Given the description of an element on the screen output the (x, y) to click on. 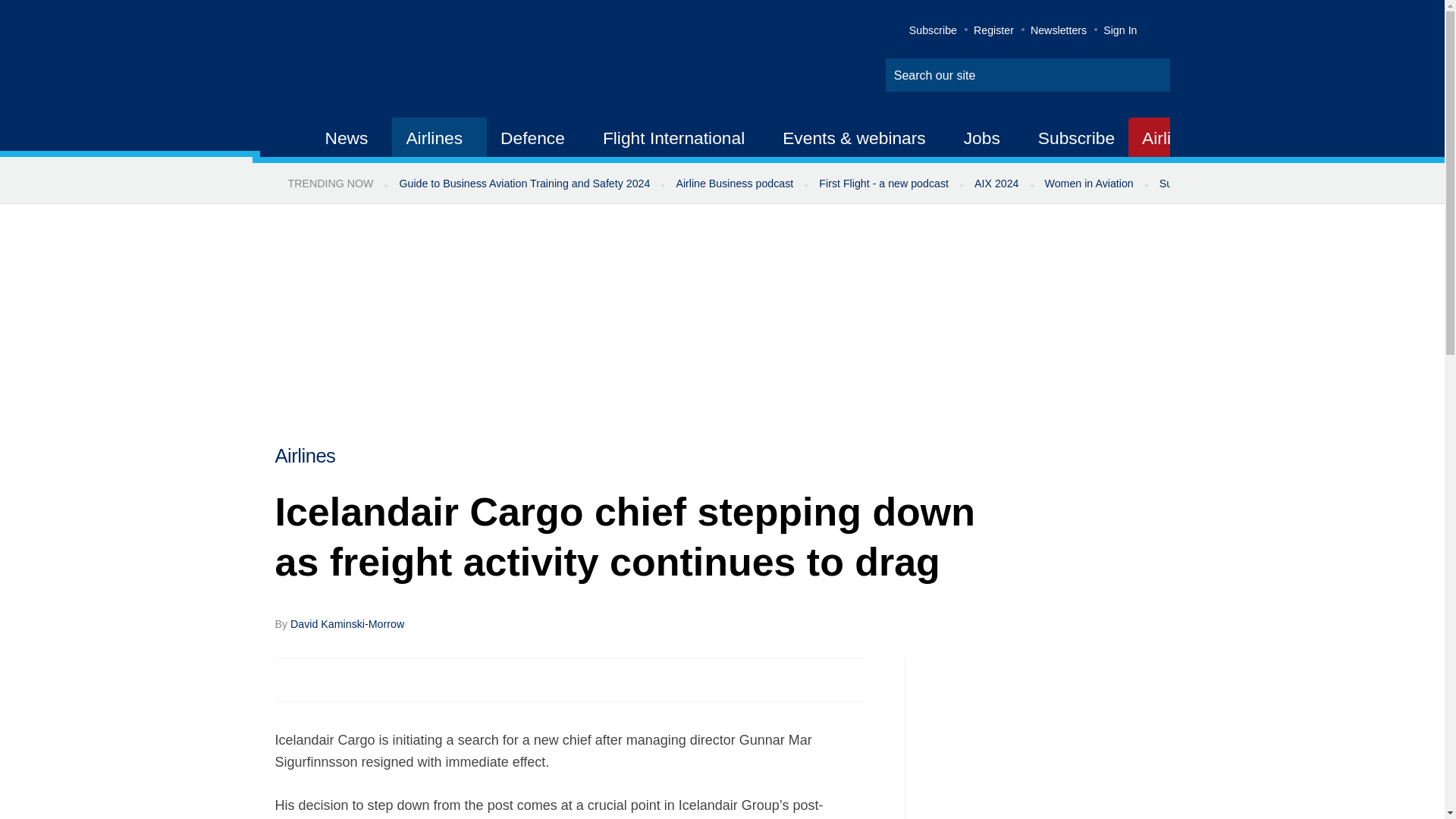
Share this on Linked in (352, 678)
Women in Aviation (1089, 183)
Share this on Facebook (288, 678)
Site name (422, 60)
Guide to Business Aviation Training and Safety 2024 (523, 183)
Share this on Twitter (320, 678)
Sustainable Aviation newsletter (1234, 183)
Email this article (386, 678)
AIX 2024 (996, 183)
First Flight - a new podcast (883, 183)
